Given the description of an element on the screen output the (x, y) to click on. 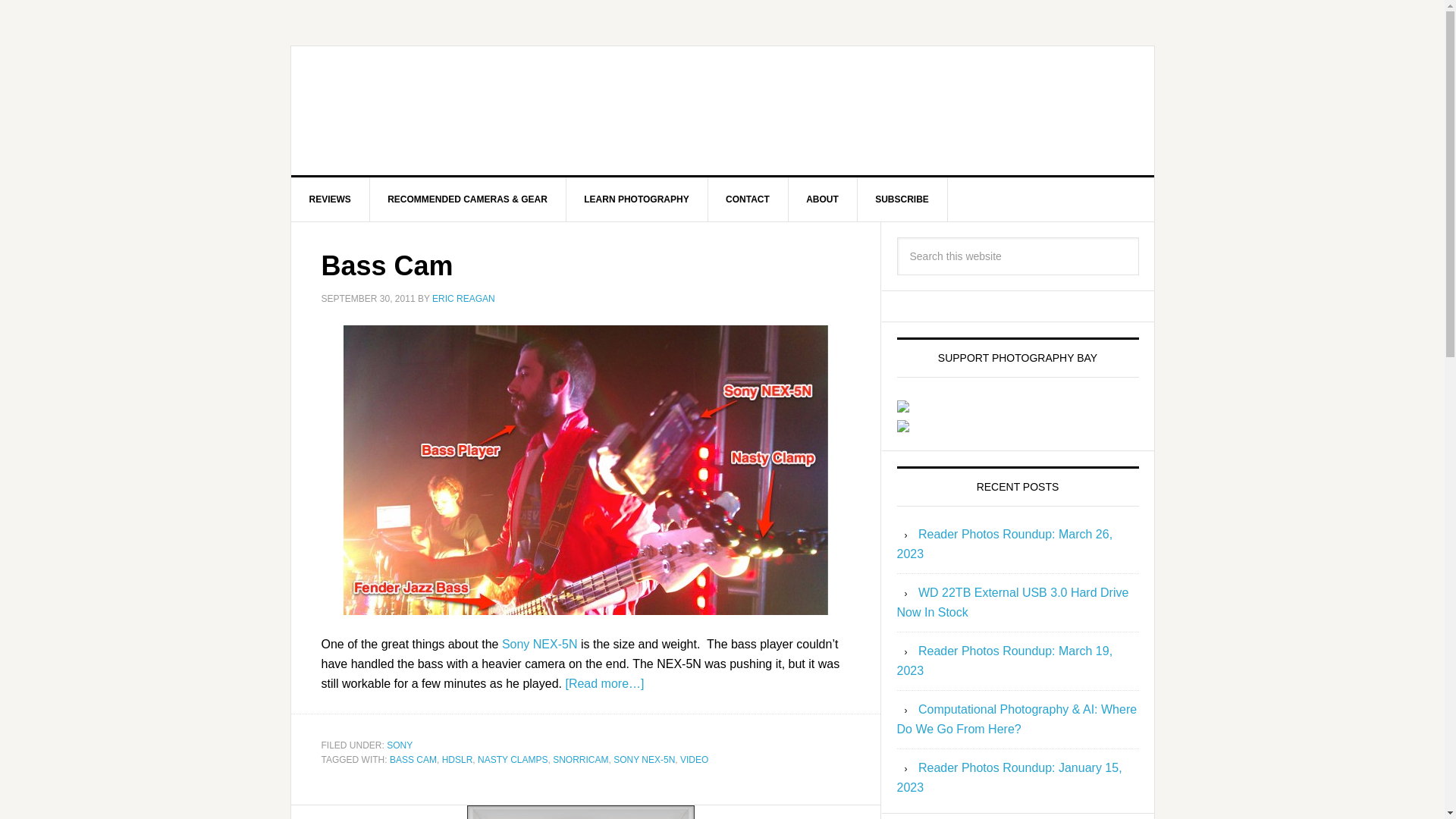
NASTY CLAMPS (512, 759)
REVIEWS (330, 199)
ABOUT (822, 199)
Bass Cam (386, 265)
PHOTOGRAPHY BAY (419, 110)
BASS CAM (413, 759)
RECENT POSTS (1017, 486)
SNORRICAM (580, 759)
